Given the description of an element on the screen output the (x, y) to click on. 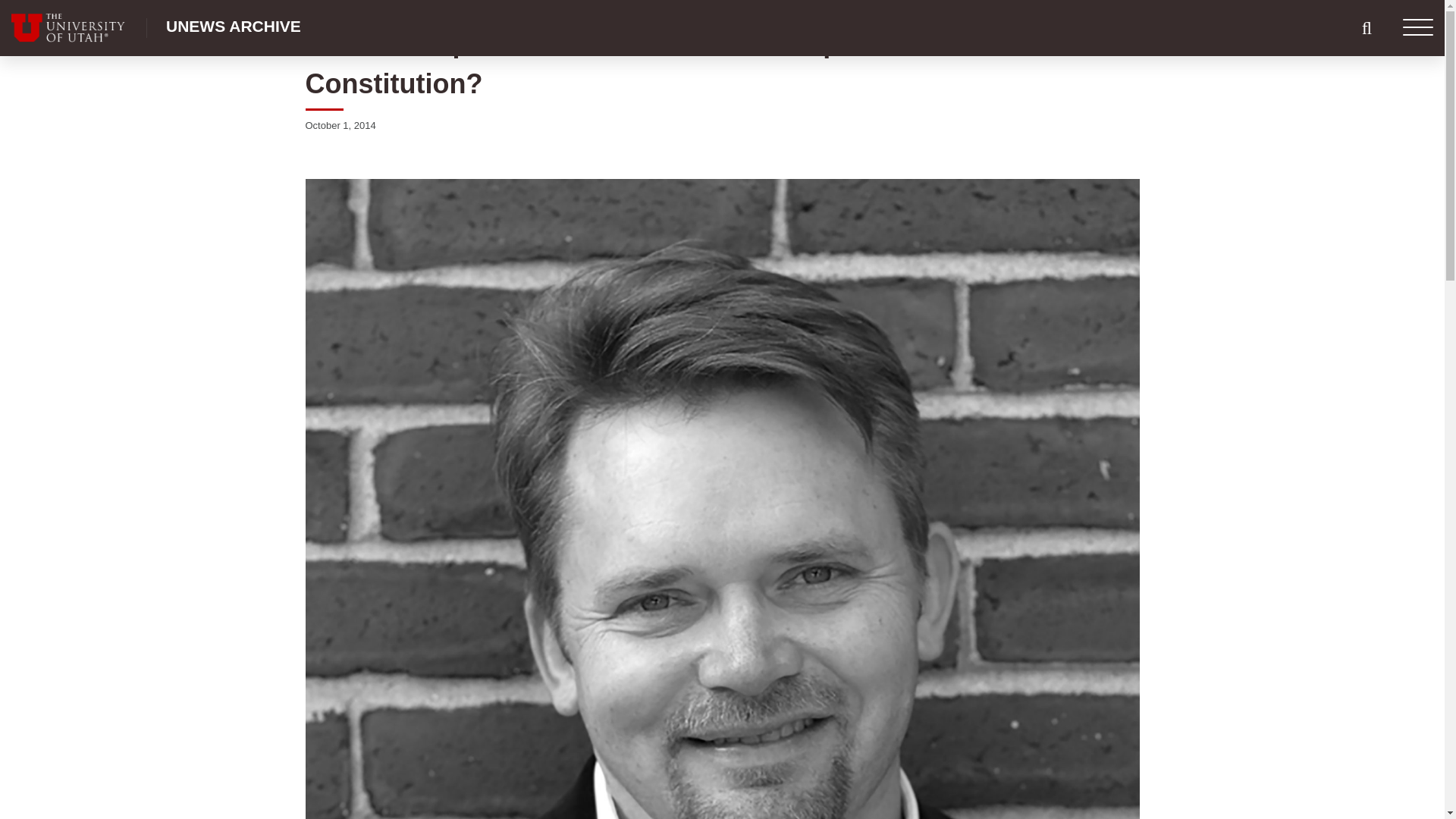
UNEWS ARCHIVE (233, 26)
